Given the description of an element on the screen output the (x, y) to click on. 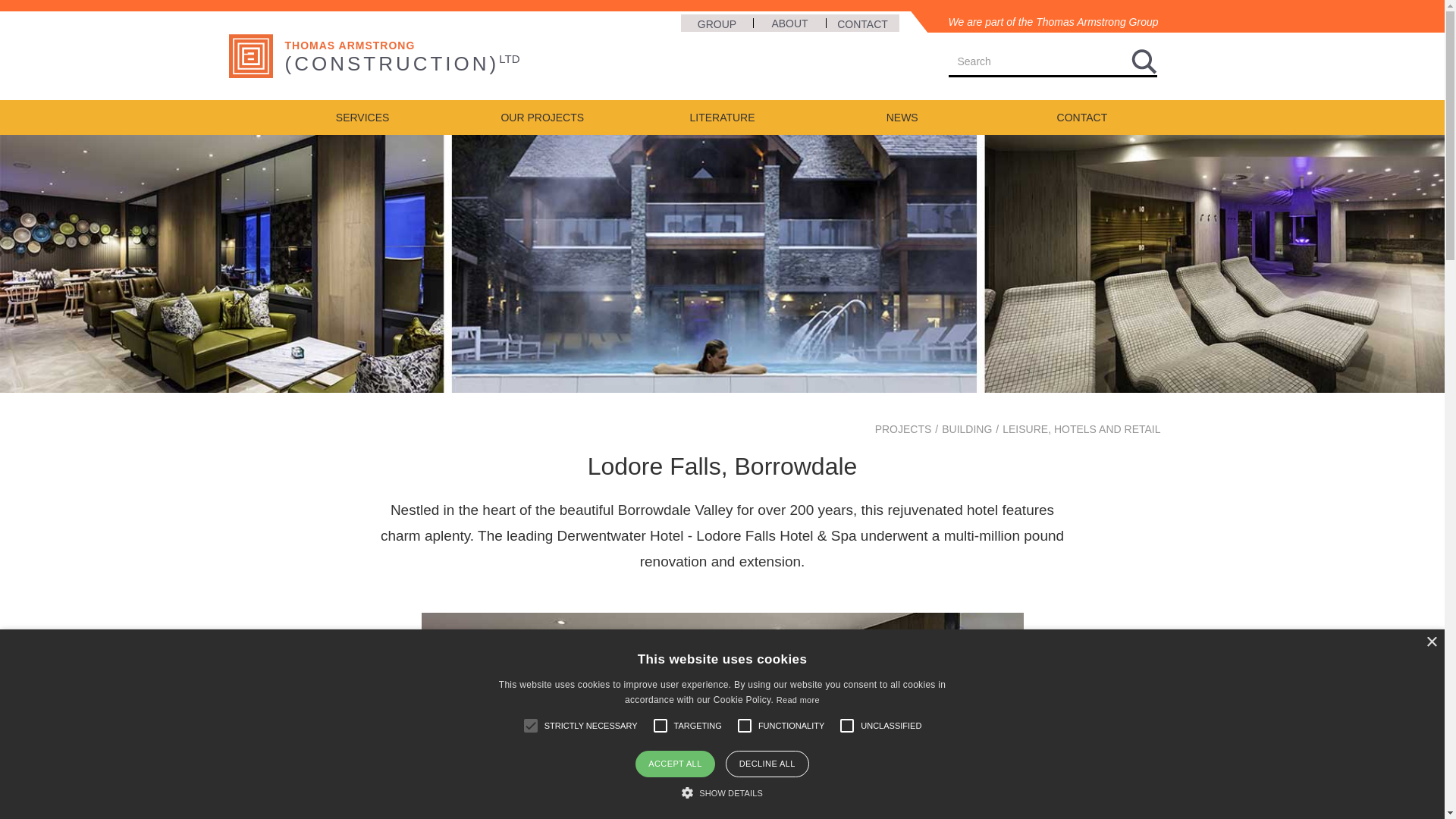
OUR PROJECTS (541, 117)
LITERATURE (721, 117)
SERVICES (362, 117)
GROUP (717, 22)
ABOUT (790, 22)
CONTACT (863, 22)
We are part of the Thomas Armstrong Group (1041, 21)
